Given the description of an element on the screen output the (x, y) to click on. 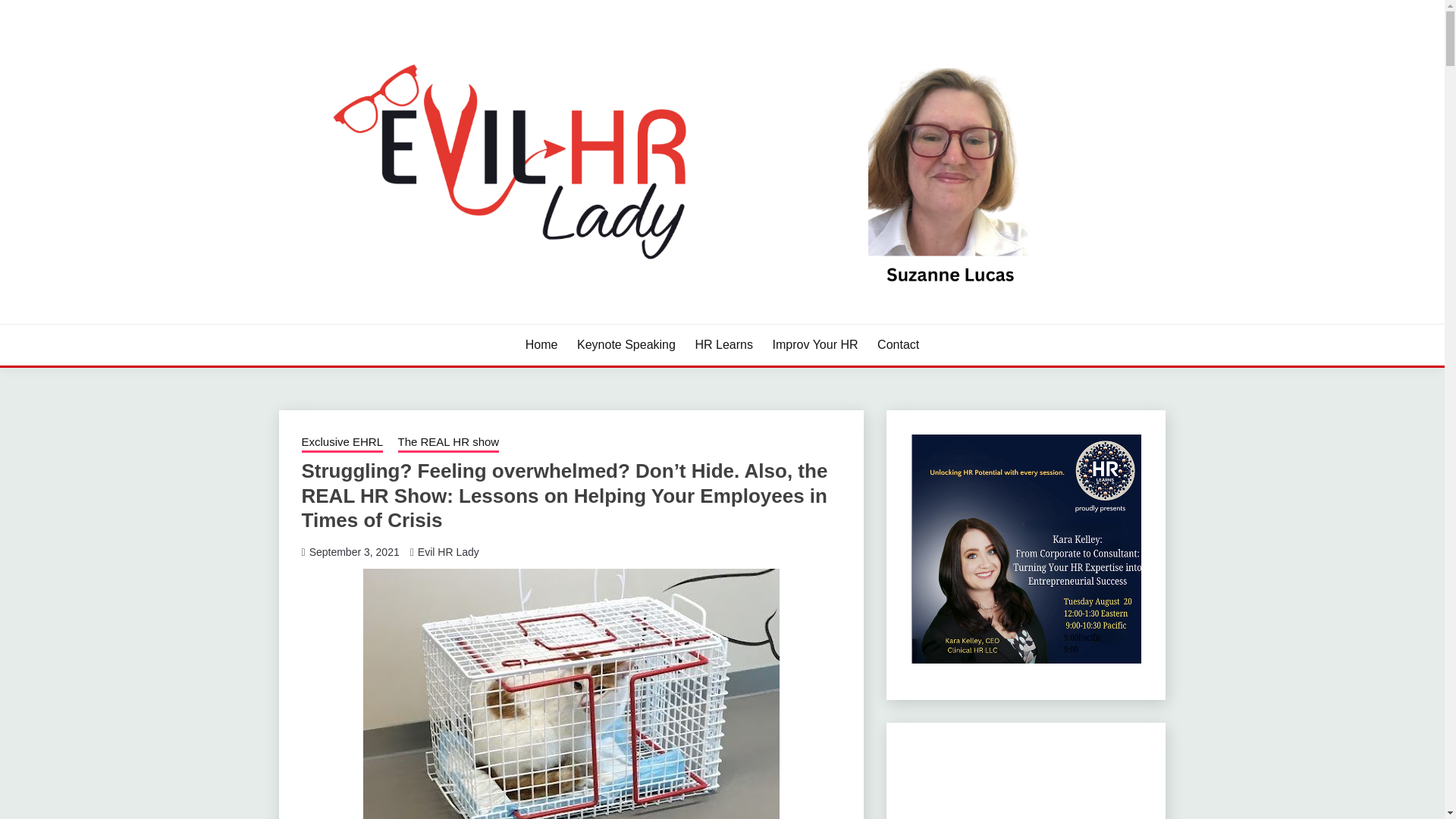
Home (541, 344)
Keynote Speaking (625, 344)
Contact (897, 344)
Improv Your HR (816, 344)
September 3, 2021 (353, 551)
HR Learns (723, 344)
The REAL HR show (448, 443)
Evil HR Lady (448, 551)
EVIL HR LADY (375, 321)
Exclusive EHRL (342, 443)
